Given the description of an element on the screen output the (x, y) to click on. 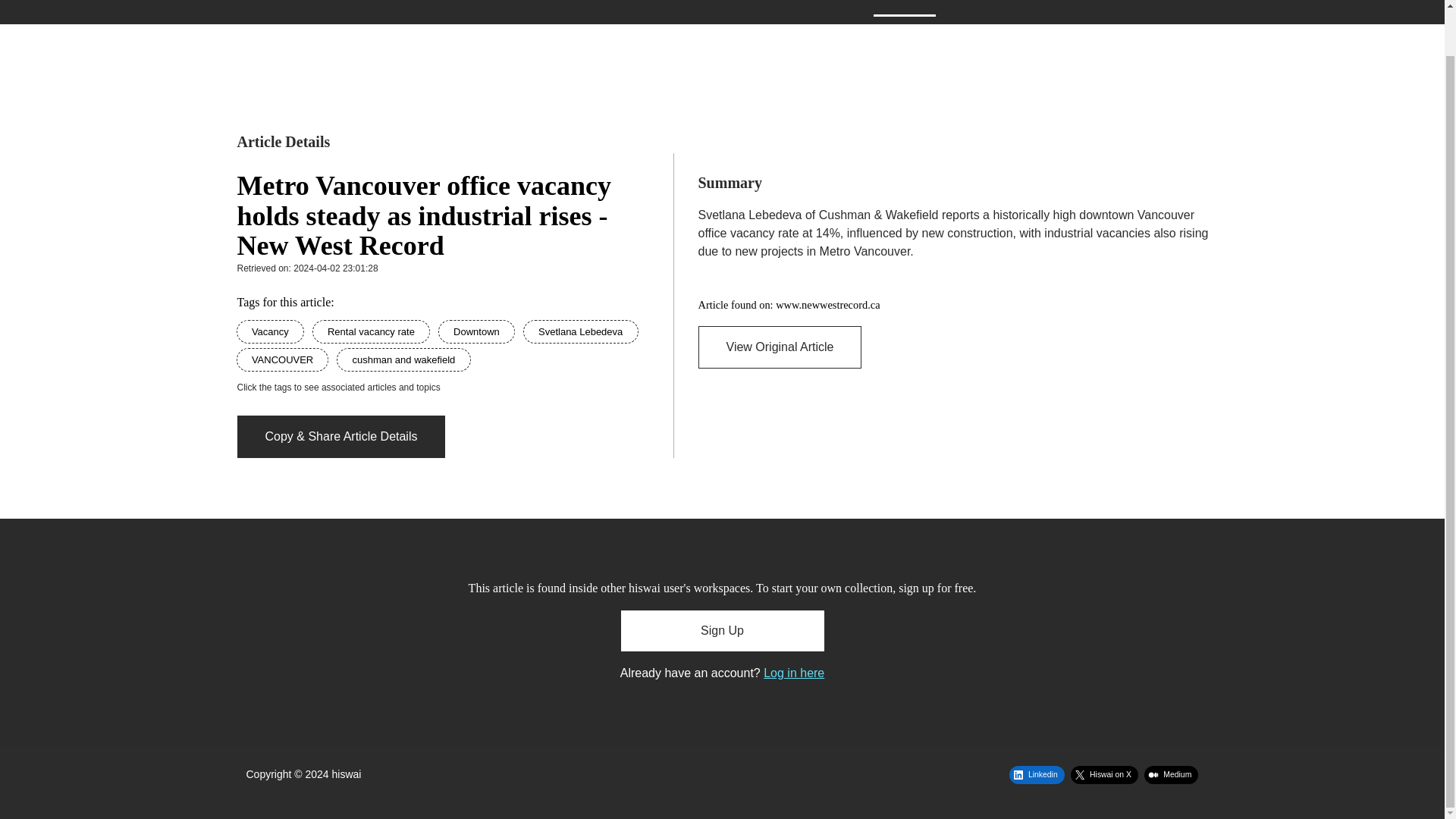
Downtown (478, 330)
Login (1115, 7)
Linkedin (1036, 774)
Sign Up (722, 630)
Rental vacancy rate (372, 330)
Sign Up (1056, 7)
Medium (1171, 774)
Log in here (793, 672)
About Hiswai (740, 7)
cushman and wakefield (403, 358)
View Original Article (779, 346)
VANCOUVER (283, 358)
Get Started (831, 7)
Hiswai on X (1104, 774)
Vacancy (270, 330)
